Given the description of an element on the screen output the (x, y) to click on. 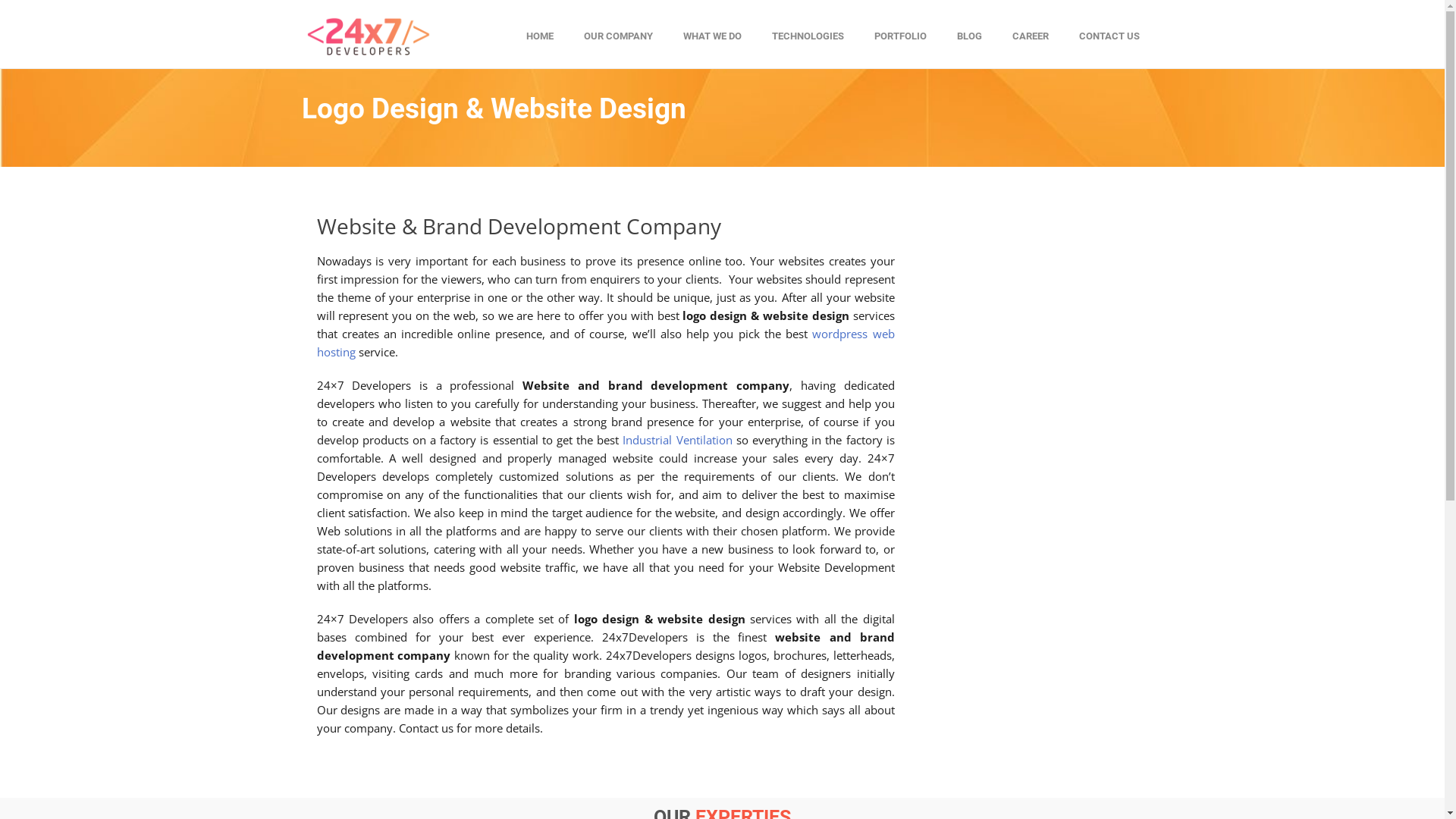
TECHNOLOGIES Element type: text (807, 41)
OUR COMPANY Element type: text (618, 41)
CONTACT US Element type: text (1108, 41)
WHAT WE DO Element type: text (711, 41)
CAREER Element type: text (1029, 41)
HOME Element type: text (539, 41)
BLOG Element type: text (969, 41)
Website Design Company India Element type: hover (366, 34)
PORTFOLIO Element type: text (899, 41)
wordpress web hosting Element type: text (605, 342)
Industrial Ventilation Element type: text (676, 439)
